Given the description of an element on the screen output the (x, y) to click on. 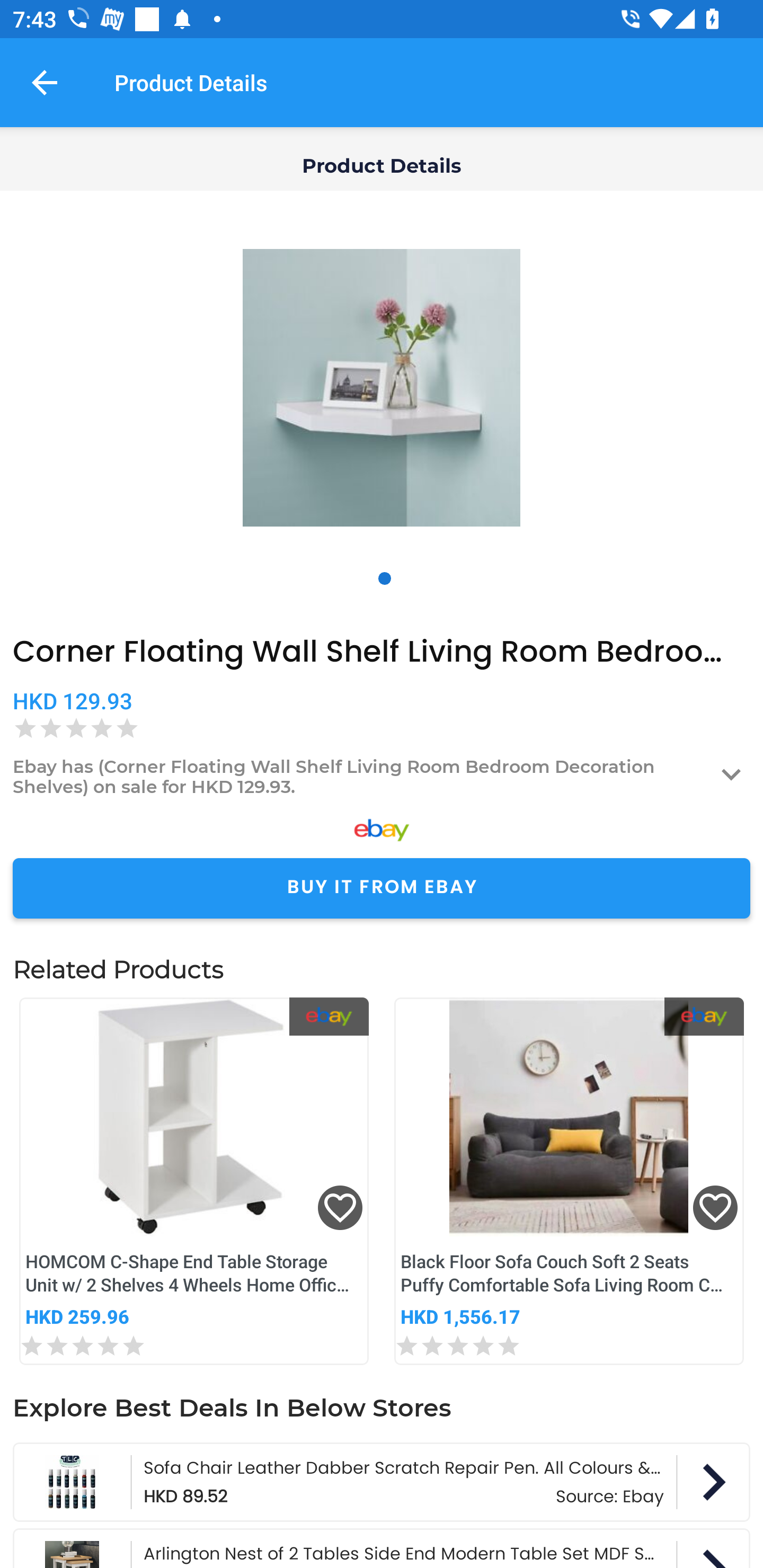
Navigate up (44, 82)
BUY IT FROM EBAY (381, 888)
